Given the description of an element on the screen output the (x, y) to click on. 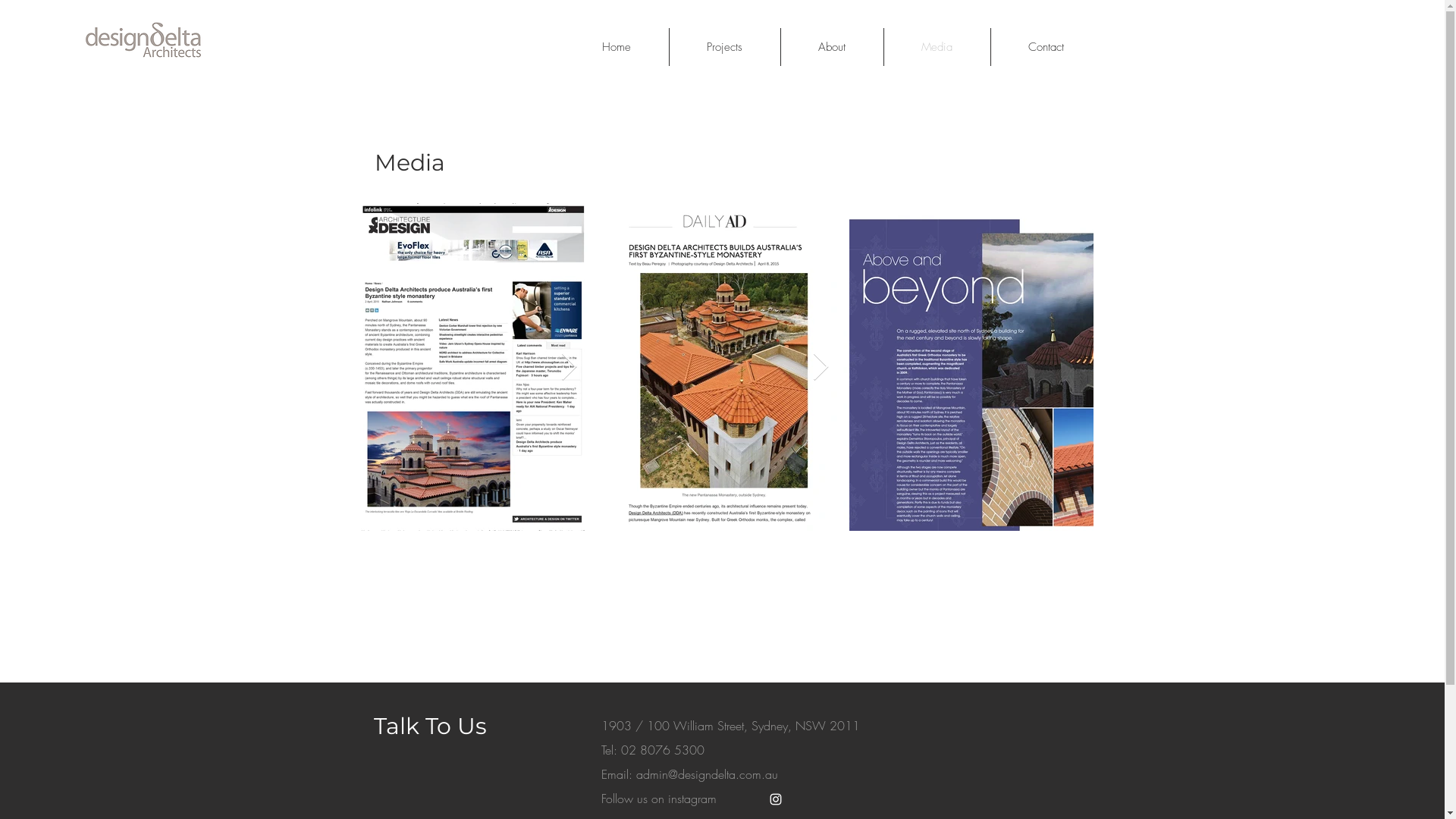
Contact Element type: text (1045, 46)
Home Element type: text (616, 46)
Media Element type: text (935, 46)
About Element type: text (830, 46)
Projects Element type: text (724, 46)
DDA logo B&W.jpg Element type: hover (142, 40)
admin@designdelta.com.au Element type: text (706, 773)
